Given the description of an element on the screen output the (x, y) to click on. 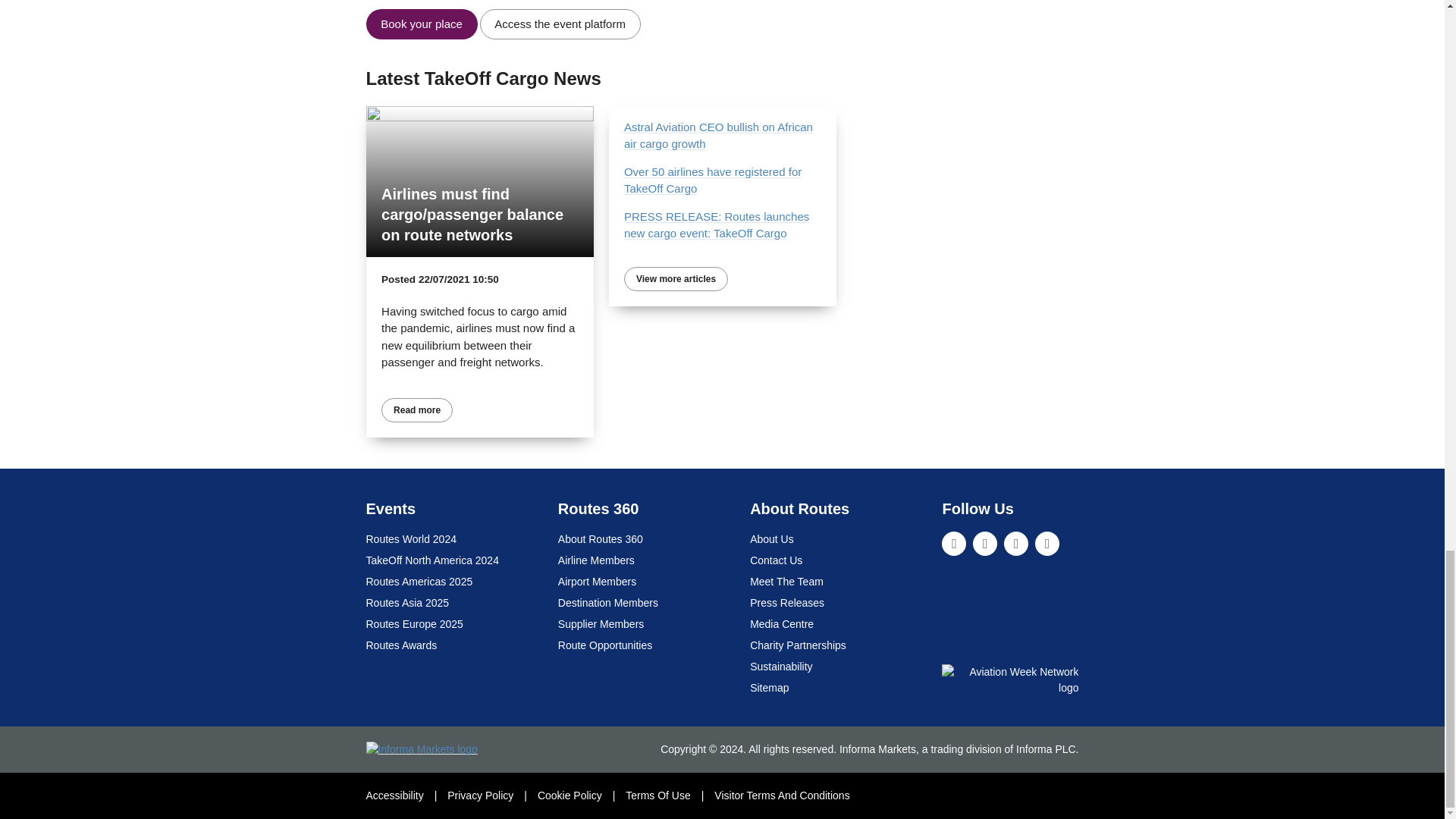
Facebook (1015, 543)
YouTube (1047, 543)
LinkedIn (954, 543)
